Given the description of an element on the screen output the (x, y) to click on. 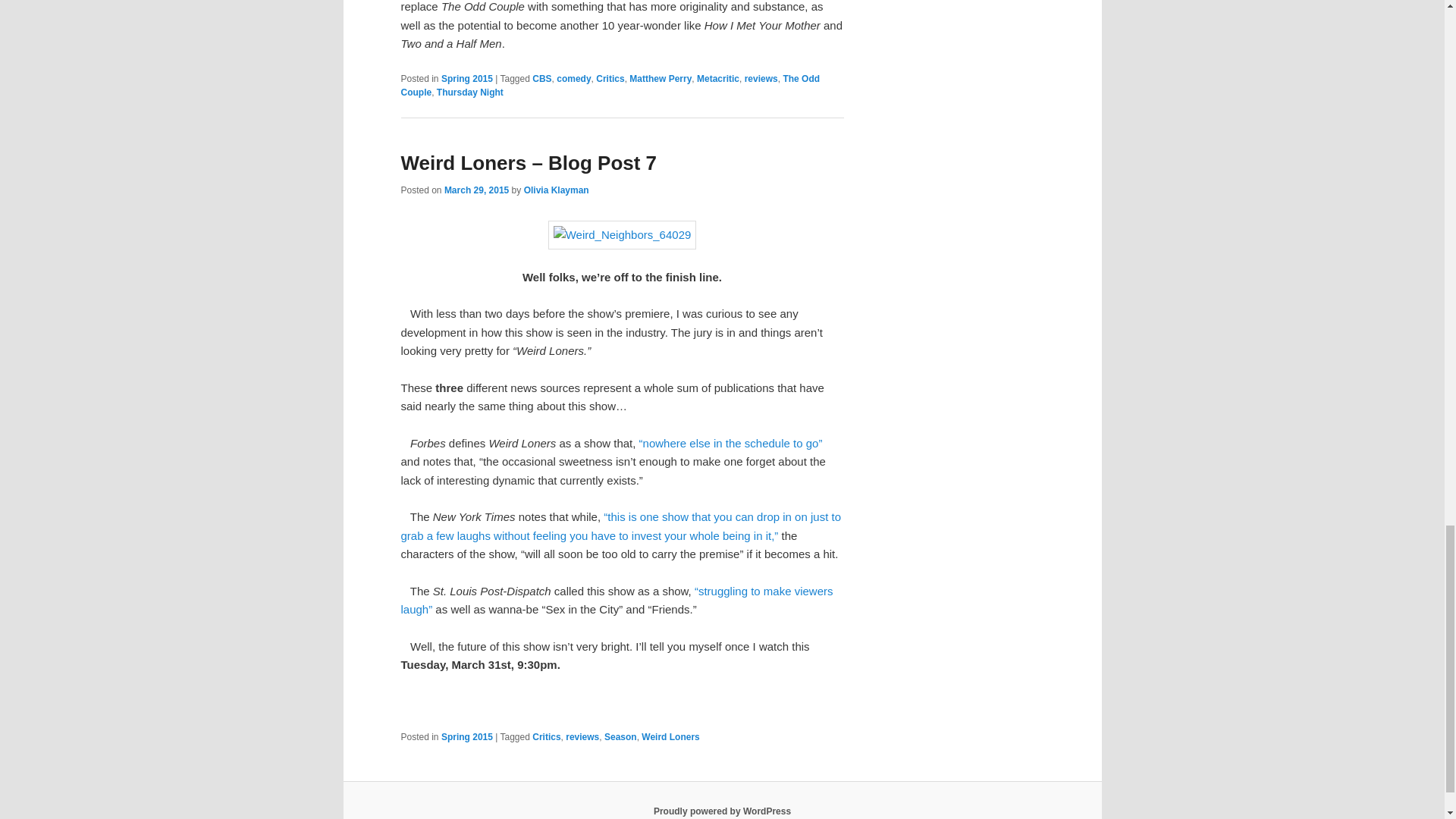
View all posts by Olivia Klayman (556, 190)
10:20 pm (476, 190)
Semantic Personal Publishing Platform (721, 810)
